Given the description of an element on the screen output the (x, y) to click on. 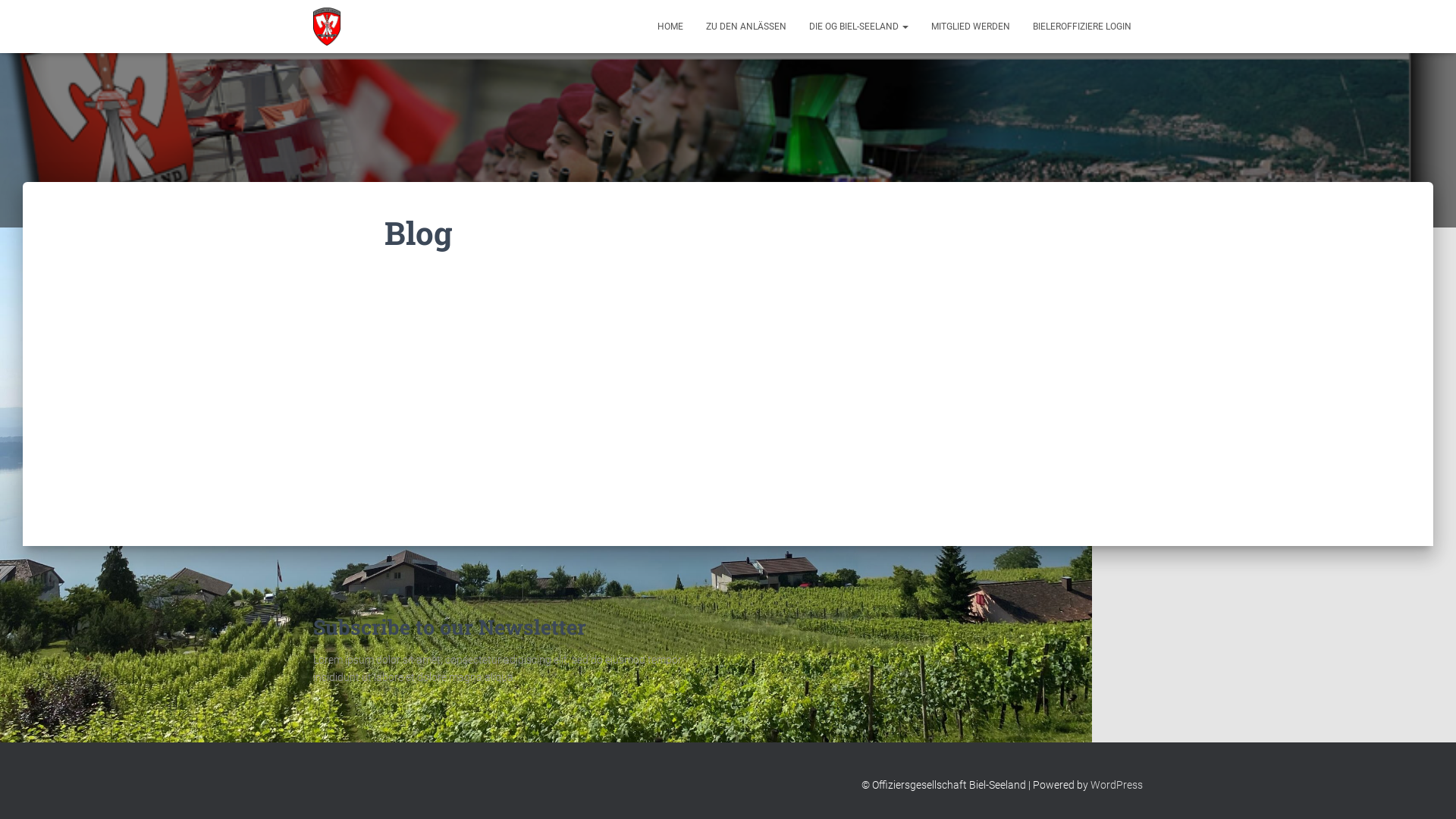
DIE OG BIEL-SEELAND Element type: text (858, 26)
BIELEROFFIZIERE LOGIN Element type: text (1081, 26)
OG Biel-Seeland Element type: hover (326, 26)
WordPress Element type: text (1116, 784)
MITGLIED WERDEN Element type: text (970, 26)
HOME Element type: text (670, 26)
